Given the description of an element on the screen output the (x, y) to click on. 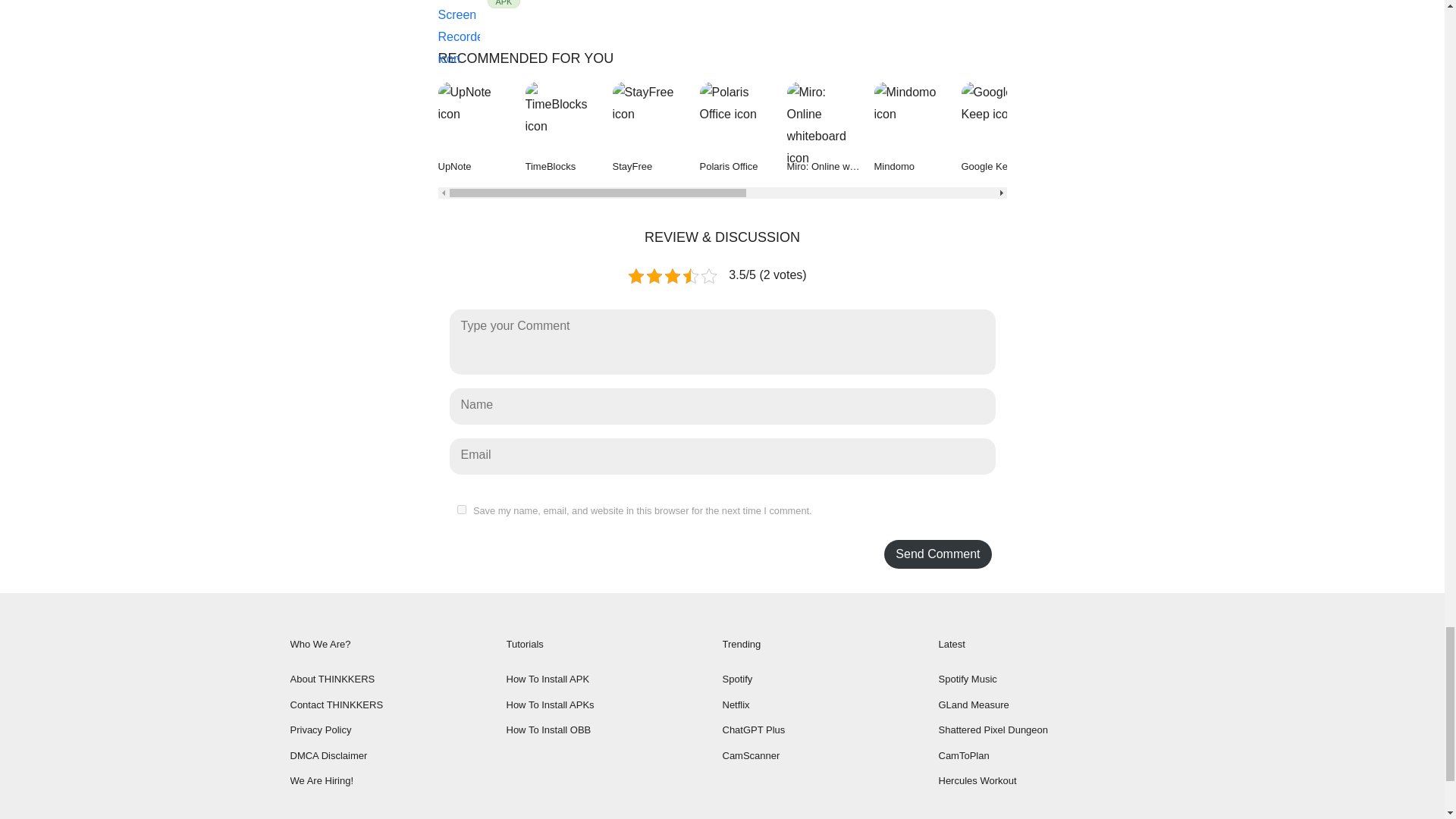
yes (461, 509)
StayFree (656, 128)
TimeBlocks (567, 128)
UpNote (481, 128)
Miro: Online whiteboard (831, 128)
Polaris Office (742, 128)
Mindomo (722, 19)
